Given the description of an element on the screen output the (x, y) to click on. 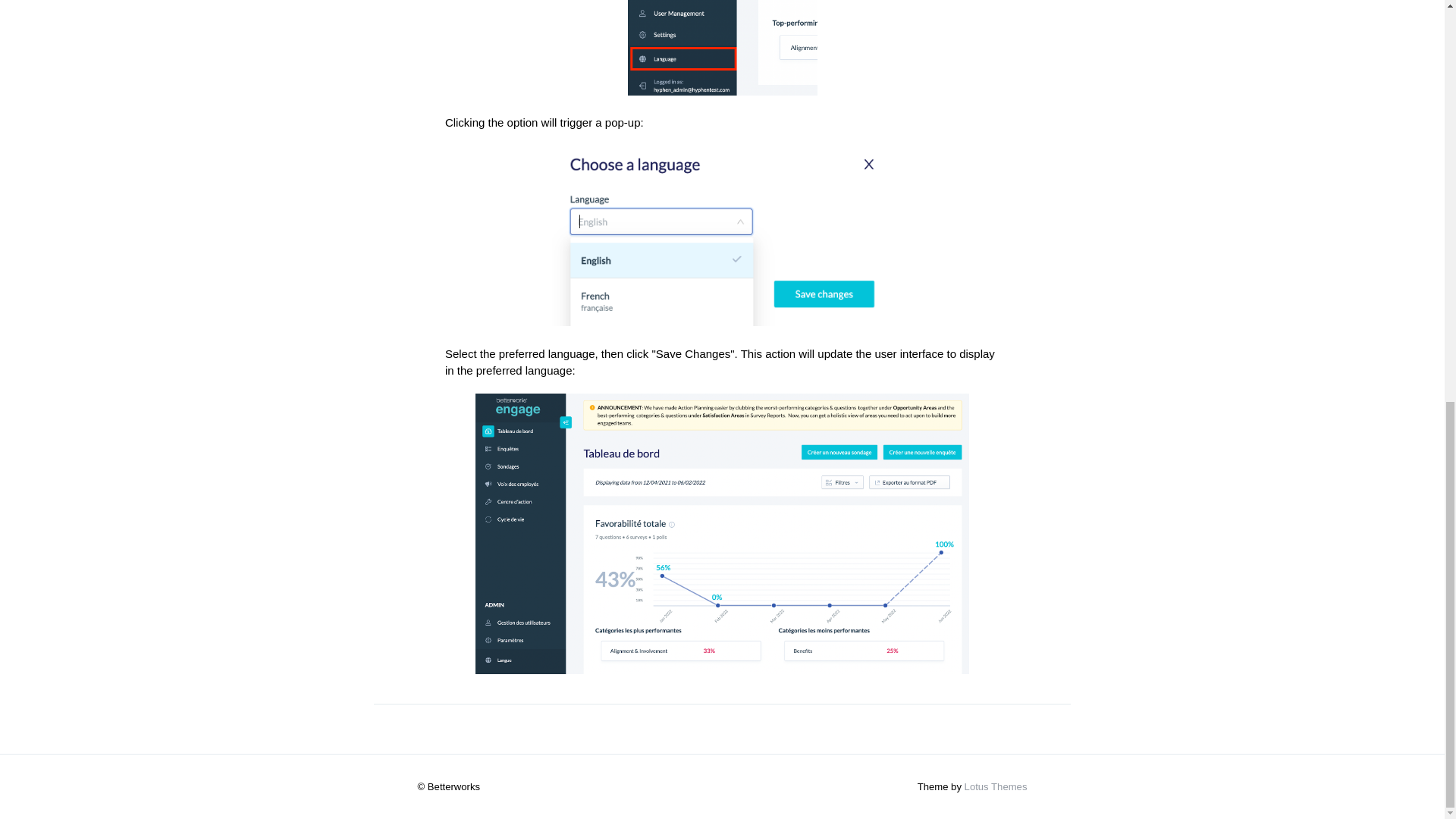
Lotus Themes (995, 786)
